Given the description of an element on the screen output the (x, y) to click on. 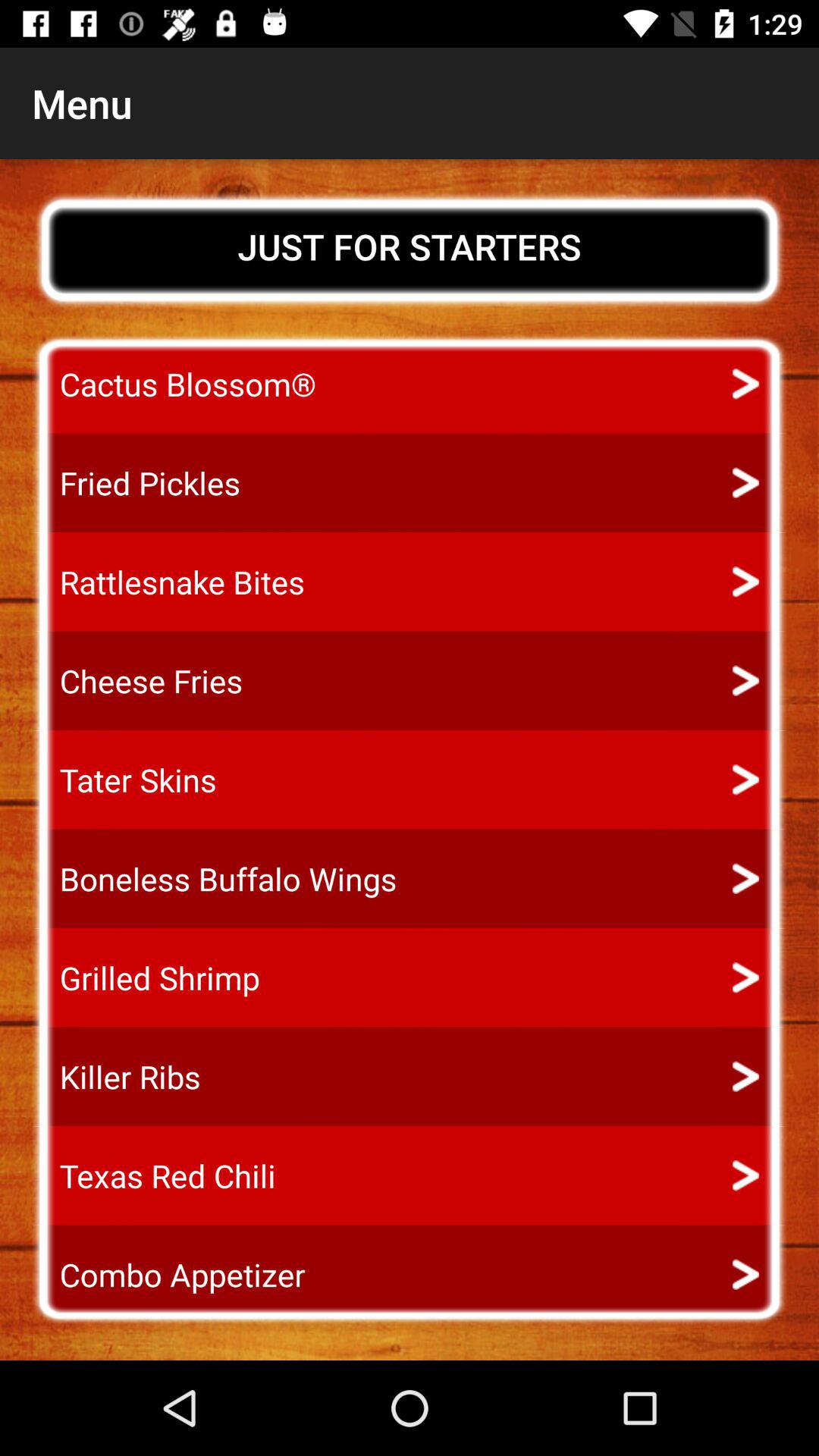
flip until grilled shrimp item (145, 977)
